Given the description of an element on the screen output the (x, y) to click on. 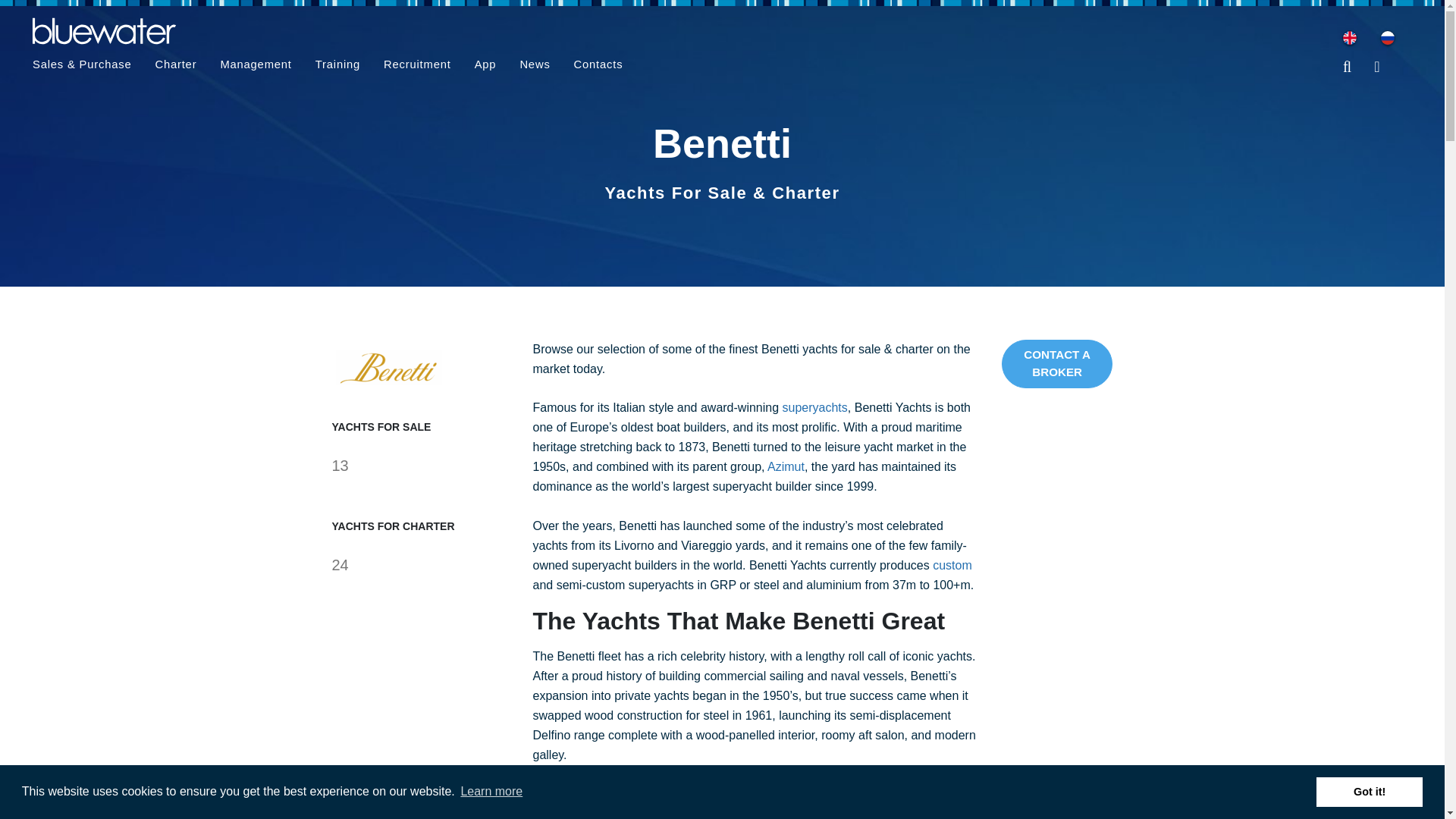
Charter (175, 66)
Got it! (1369, 791)
Contact A Yacht Broker (1057, 363)
Training (337, 66)
Management (255, 66)
Learn more (491, 791)
